Given the description of an element on the screen output the (x, y) to click on. 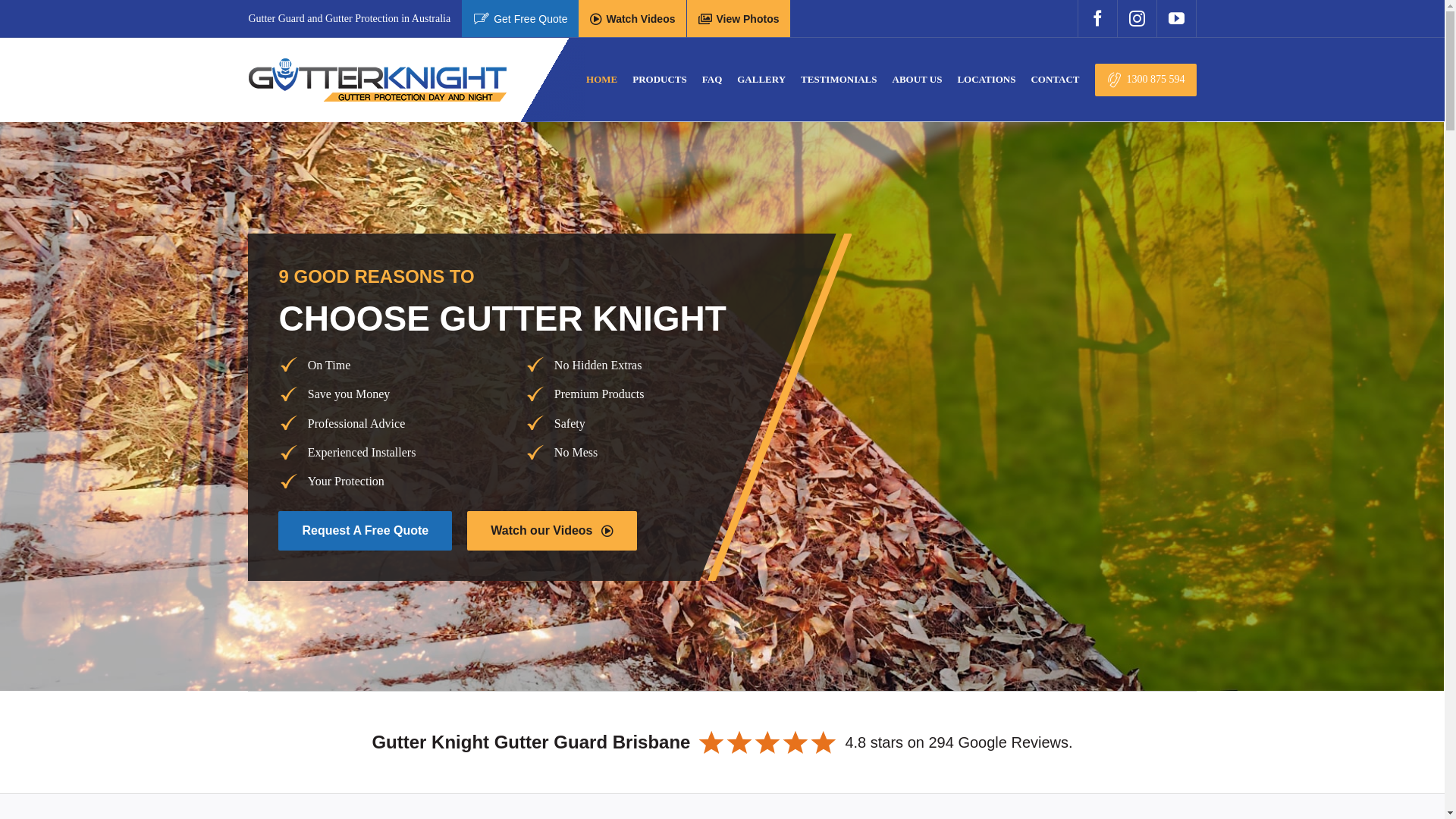
CONTACT Element type: text (1054, 79)
FAQ Element type: text (711, 79)
View Photos Element type: text (738, 18)
PRODUCTS Element type: text (659, 79)
Facebook Element type: hover (1097, 18)
ABOUT US Element type: text (917, 79)
LOCATIONS Element type: text (986, 79)
HOME Element type: text (601, 79)
Request A Free Quote Element type: text (364, 530)
Watch Videos Element type: text (632, 18)
TESTIMONIALS Element type: text (838, 79)
Watch our Videos Element type: text (551, 530)
1300 875 594 Element type: text (1145, 79)
YouTube Element type: hover (1176, 18)
Get Free Quote Element type: text (519, 18)
Instagram Element type: hover (1136, 18)
GALLERY Element type: text (761, 79)
